Given the description of an element on the screen output the (x, y) to click on. 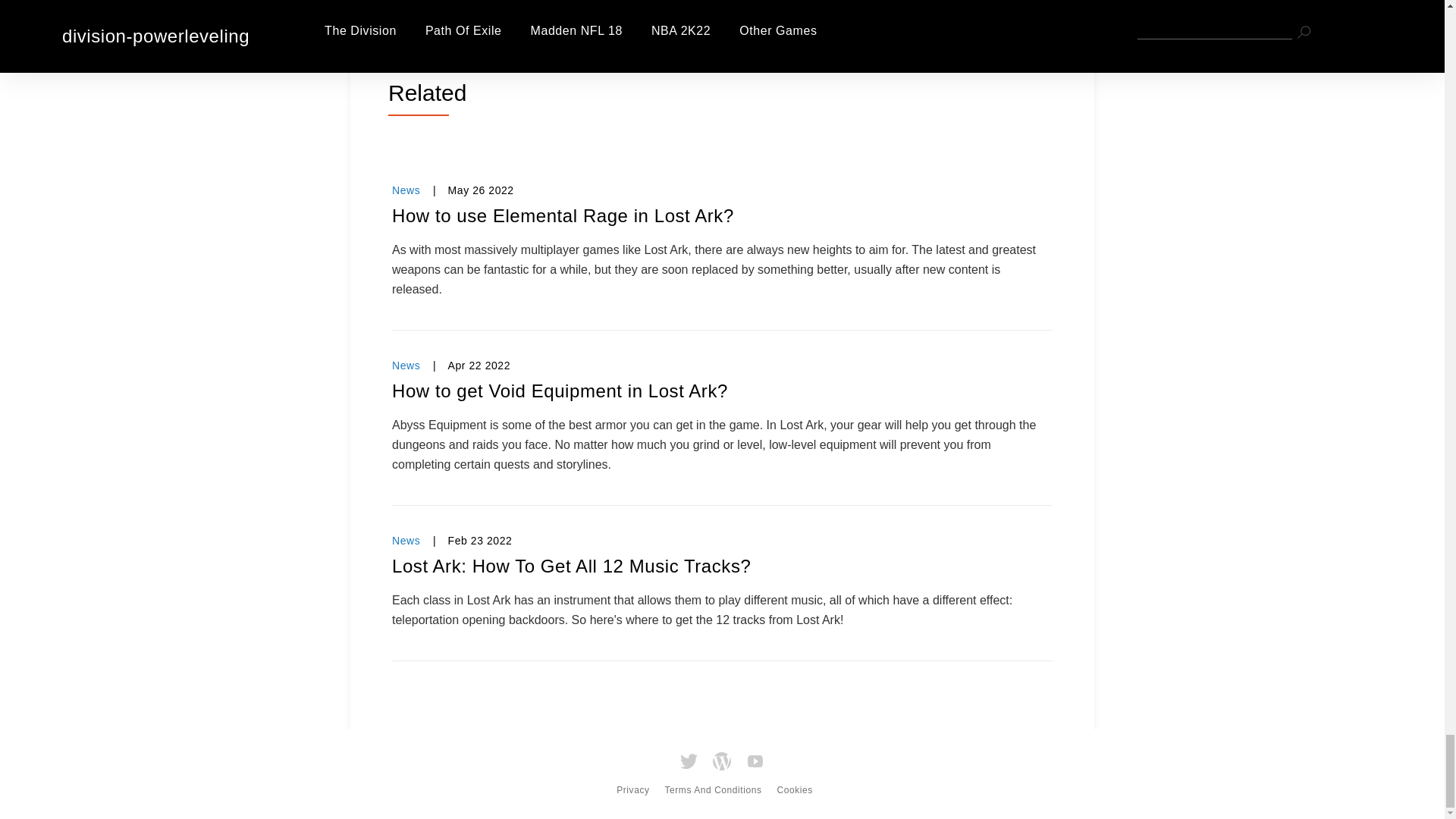
Lost Ark: How To Get All 12 Music Tracks? (721, 566)
Privacy (632, 784)
How to use Elemental Rage in Lost Ark? (721, 215)
Terms And Conditions (713, 784)
Cookies (794, 784)
News (405, 540)
News (405, 365)
News (405, 190)
How to get Void Equipment in Lost Ark? (721, 391)
